Given the description of an element on the screen output the (x, y) to click on. 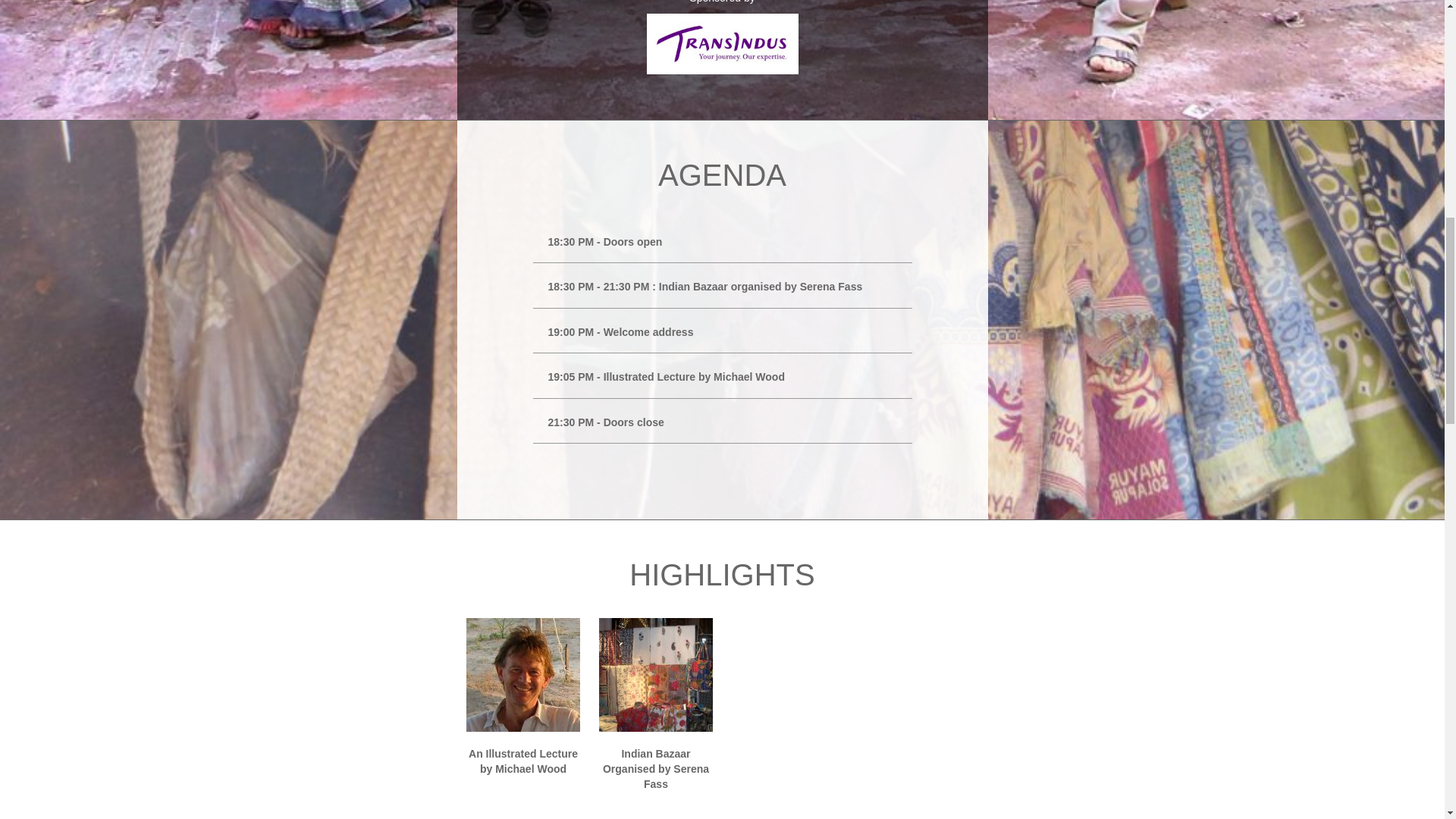
Indian Bazaar (655, 690)
Indian Bazaar (655, 690)
An Illustrated Lecture (523, 690)
An Illustrated Lecture (523, 690)
